Given the description of an element on the screen output the (x, y) to click on. 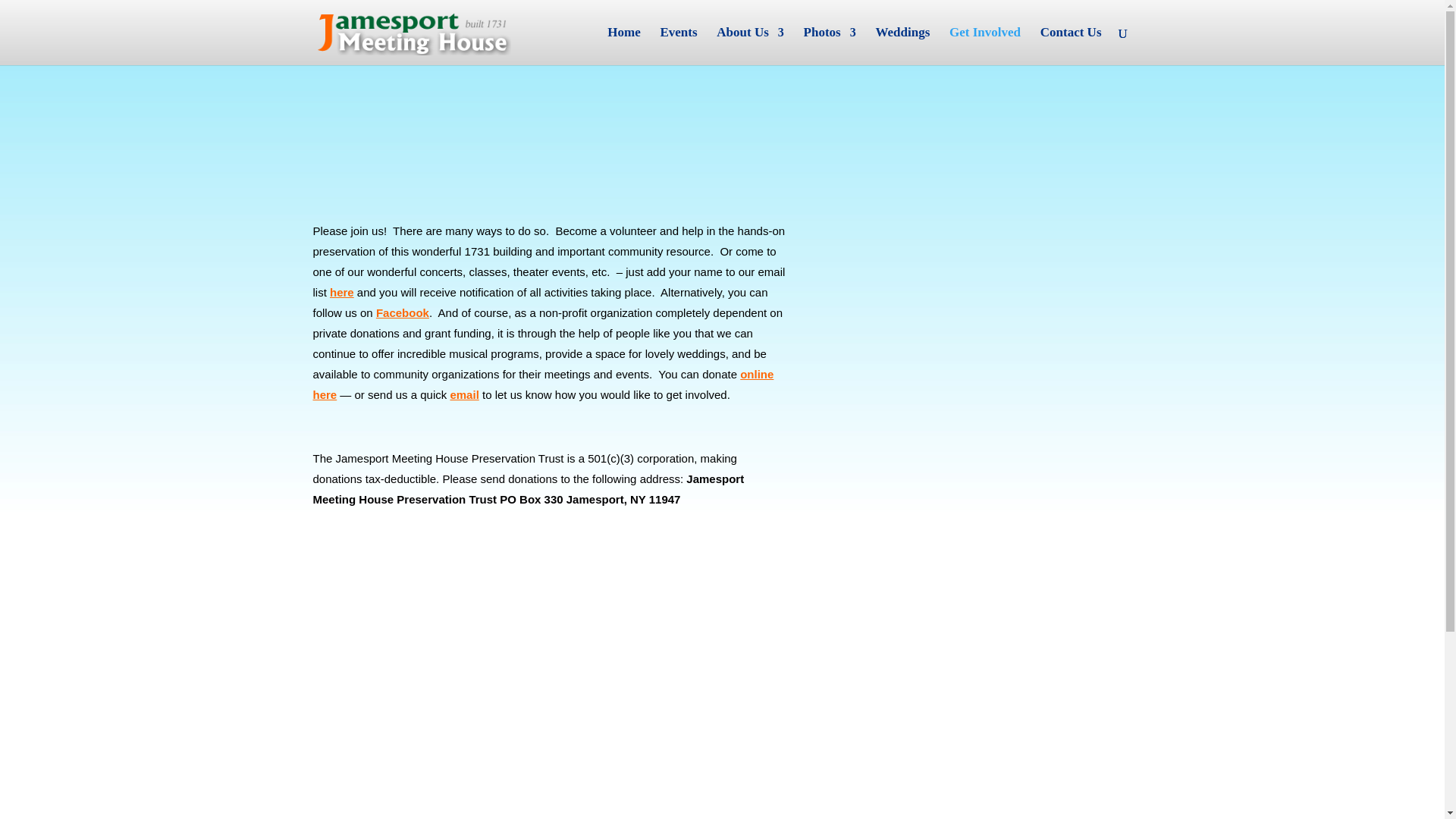
Contact Us (1071, 46)
online here (543, 384)
email (464, 394)
here (341, 291)
Facebook (402, 312)
About Us (750, 46)
Photos (829, 46)
Events (678, 46)
Weddings (902, 46)
Get Involved (984, 46)
